Given the description of an element on the screen output the (x, y) to click on. 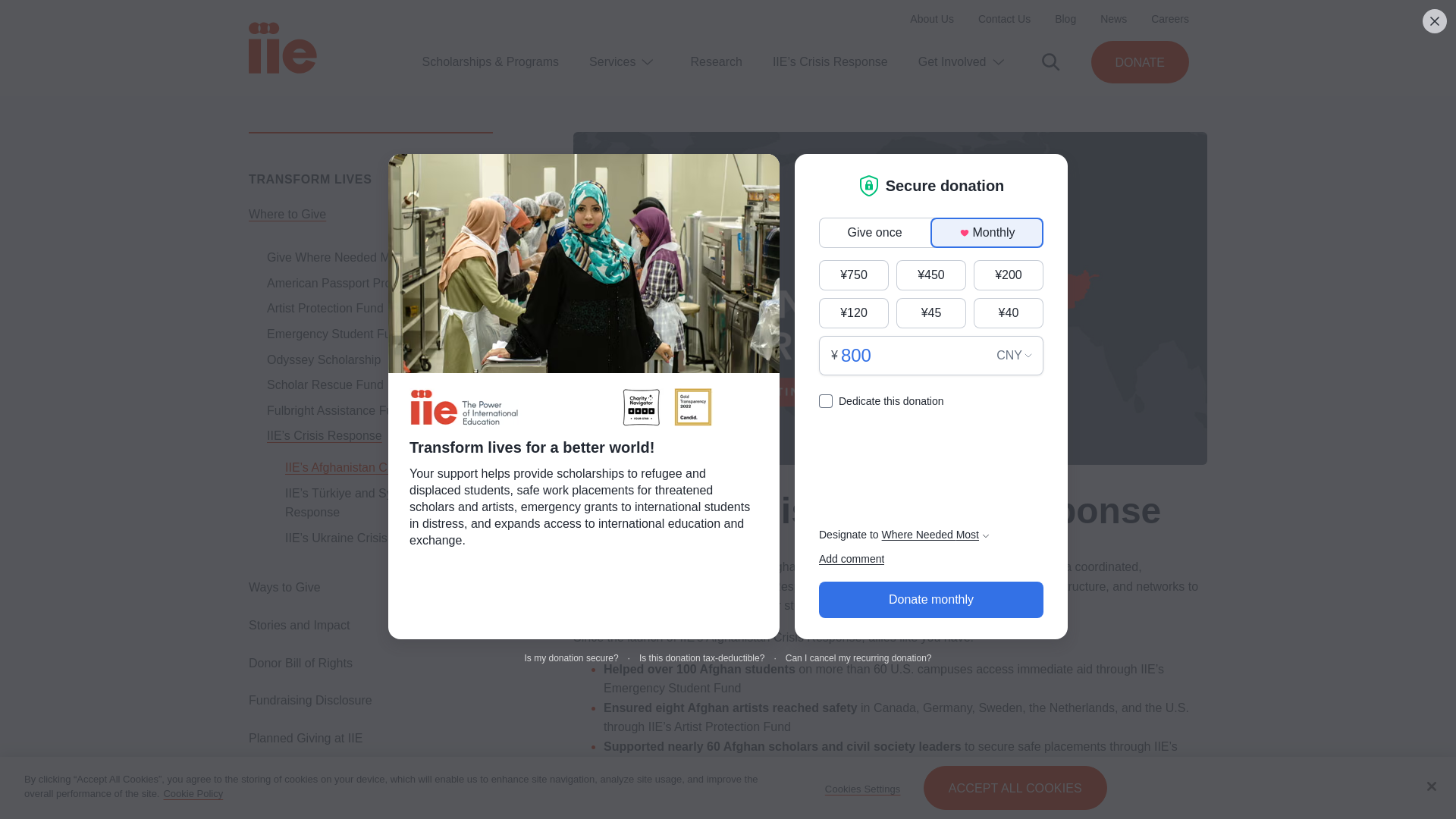
Toggle submenu for: Services (646, 62)
TRANSFORM LIVES (310, 179)
Blog (1064, 19)
Contact Us (1004, 19)
Services (611, 61)
Open search (1051, 61)
Toggle submenu for: Get Involved (998, 62)
IIE - The Power of International Education (282, 47)
Research (715, 61)
DONATE (1139, 61)
Careers (1170, 19)
Get Involved (952, 61)
News (1113, 19)
About Us (931, 19)
